Given the description of an element on the screen output the (x, y) to click on. 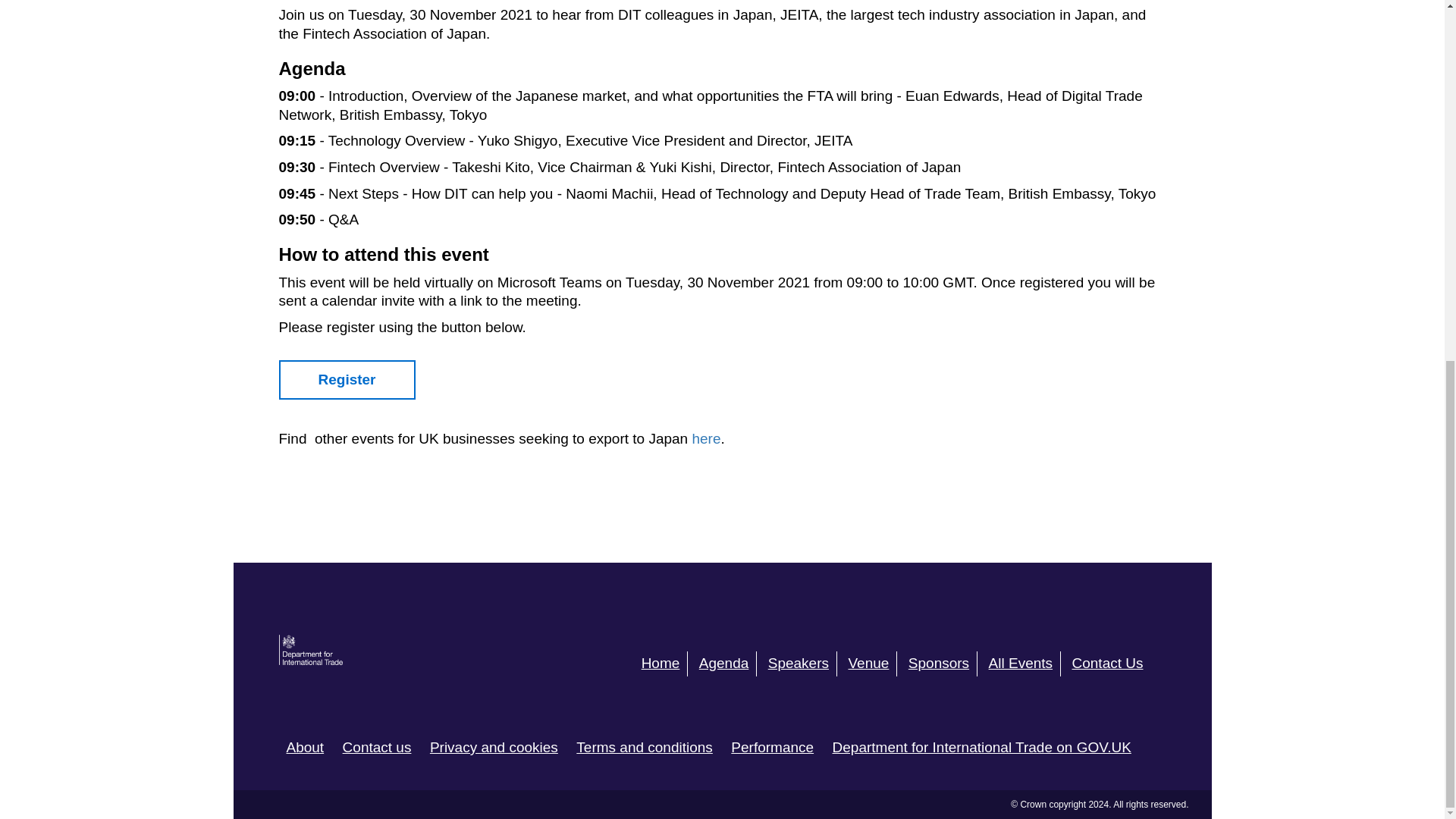
Home (665, 663)
About (305, 747)
Terms and conditions (644, 747)
Contact us (377, 747)
Contact Us (1111, 663)
Agenda (727, 663)
Sponsors (942, 663)
All Events (1024, 663)
Privacy and cookies (493, 747)
Performance (771, 747)
Register (346, 380)
here (705, 438)
Venue (871, 663)
Department for International Trade on GOV.UK (981, 747)
Speakers (802, 663)
